Given the description of an element on the screen output the (x, y) to click on. 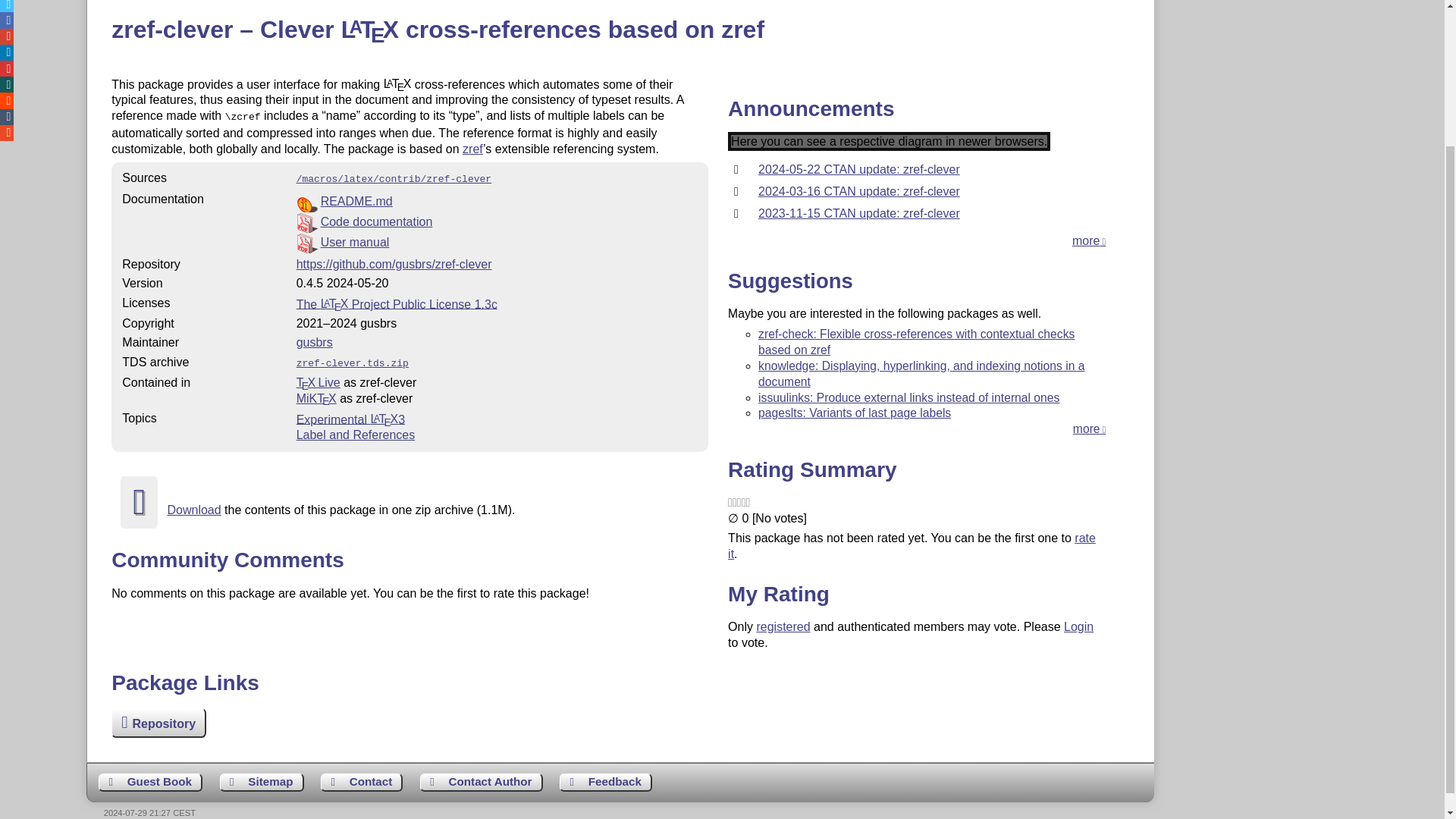
User manual (355, 241)
Leave some words for other visitors (150, 782)
Spectrum indicating the announcements for the package (888, 140)
Code documentation (376, 221)
zref (473, 148)
The LATEX Project Public License 1.3c (397, 303)
Get help on how to contact an author (481, 782)
CTAN lion drawing by Duane Bibby (1353, 11)
Get contact information for the Web site (361, 782)
README.md (356, 201)
Portable Document Format (497, 222)
Send feedback on the current web page to the Web masters (605, 782)
Show the structure of this site (261, 782)
Portable Document Format (497, 242)
Read Me file (497, 201)
